Given the description of an element on the screen output the (x, y) to click on. 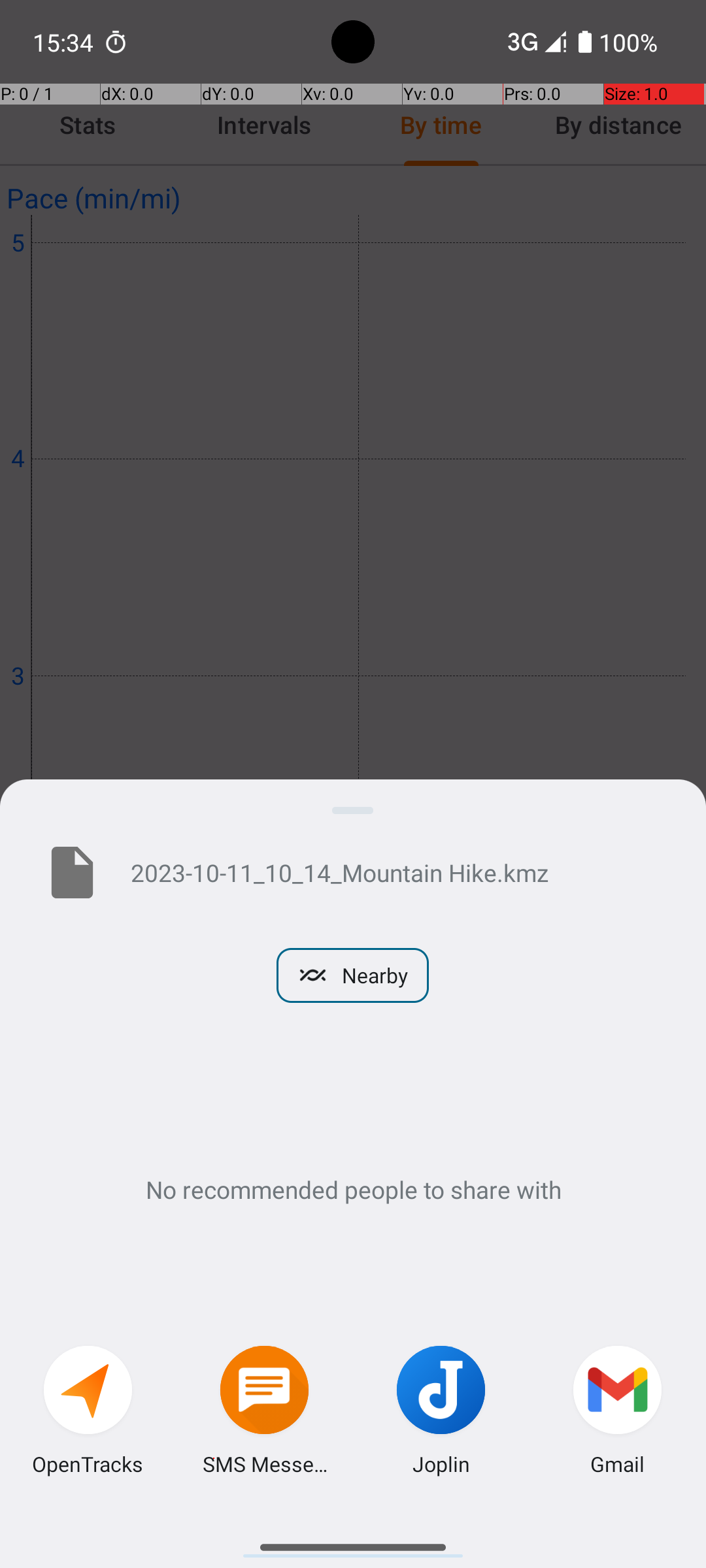
2023-10-11_10_14_Mountain Hike.kmz Element type: android.widget.TextView (397, 872)
